Given the description of an element on the screen output the (x, y) to click on. 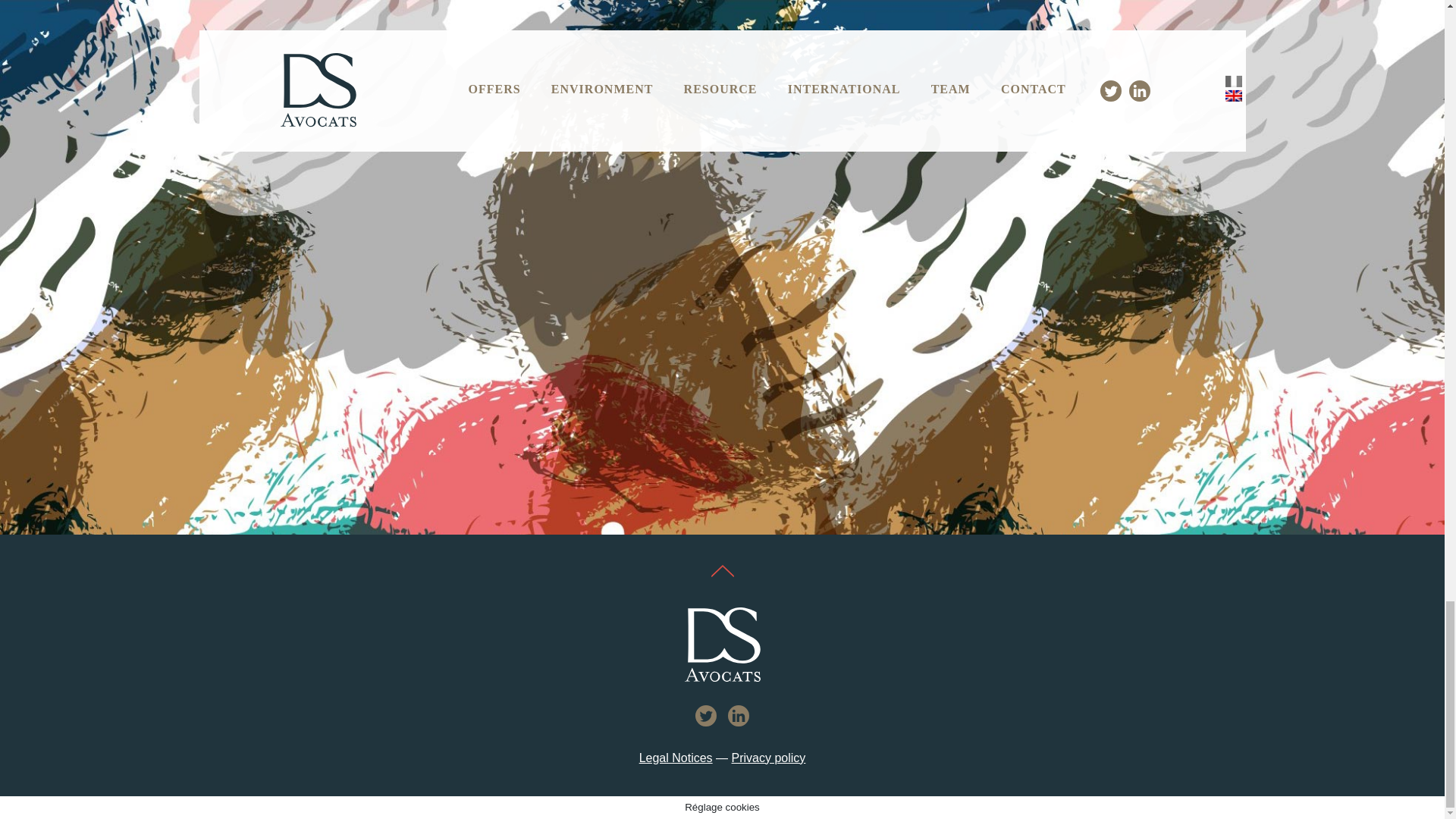
Legal Notices (676, 757)
Privacy policy (769, 757)
linkedin.com DS AVOCATS (738, 715)
Top of the page (722, 570)
Twitter DS AVOCATS (705, 715)
